Given the description of an element on the screen output the (x, y) to click on. 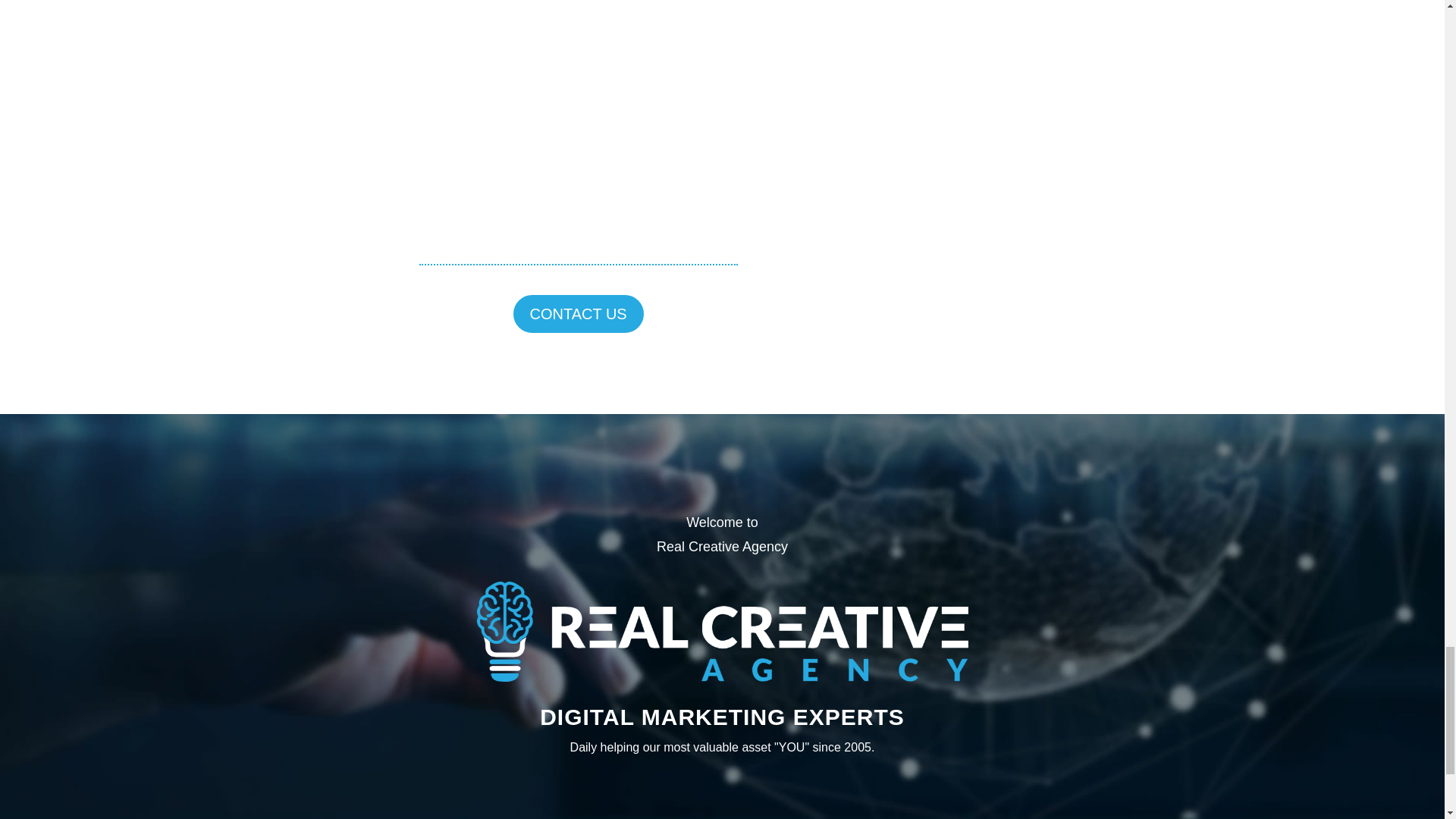
CONTACT US (578, 313)
